Given the description of an element on the screen output the (x, y) to click on. 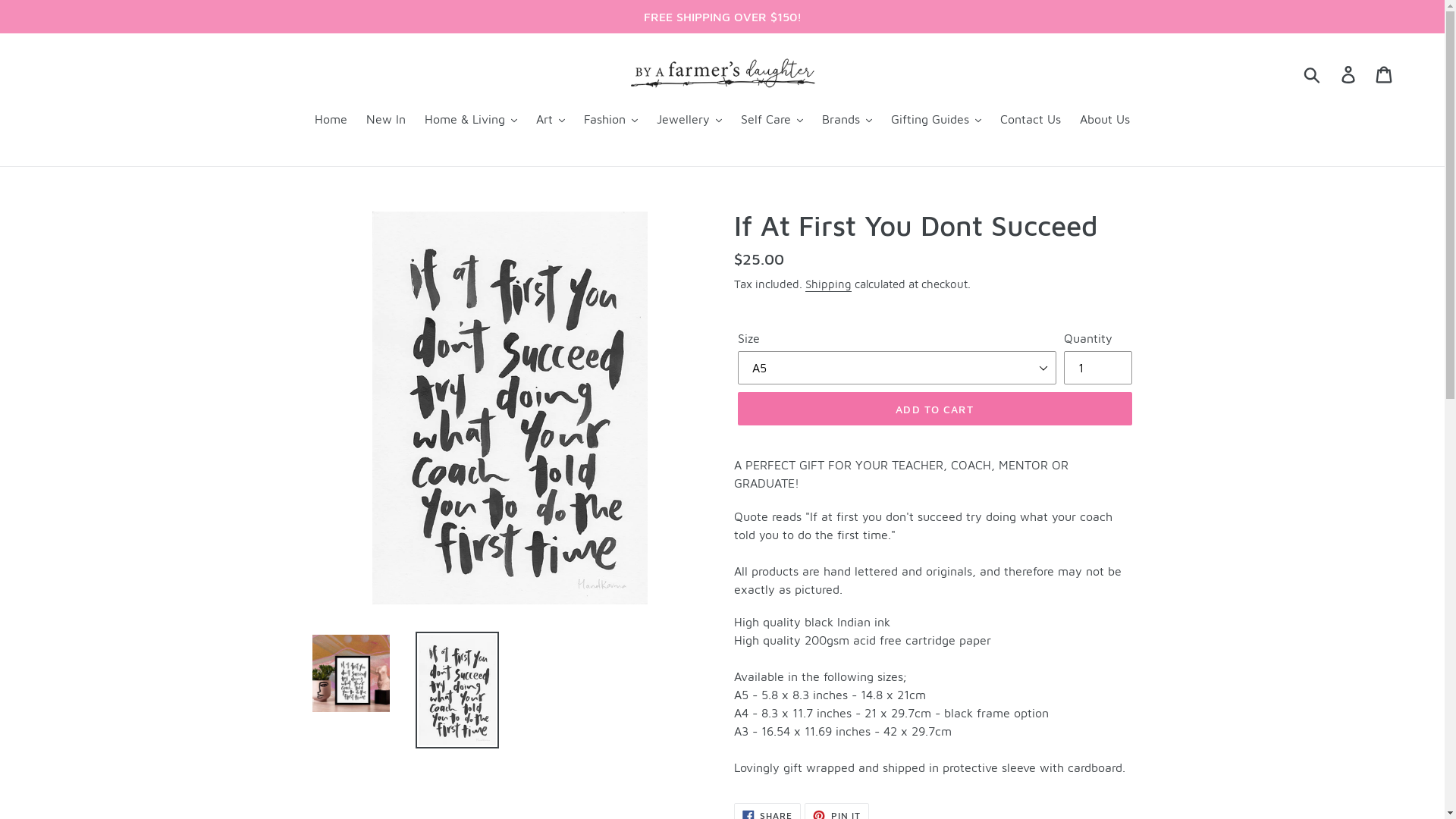
Contact Us Element type: text (1030, 119)
New In Element type: text (385, 119)
FREE SHIPPING OVER $150! Element type: text (722, 16)
About Us Element type: text (1104, 119)
Cart Element type: text (1384, 73)
Shipping Element type: text (828, 284)
Log in Element type: text (1349, 73)
Home Element type: text (330, 119)
ADD TO CART Element type: text (934, 408)
Submit Element type: text (1312, 73)
